Given the description of an element on the screen output the (x, y) to click on. 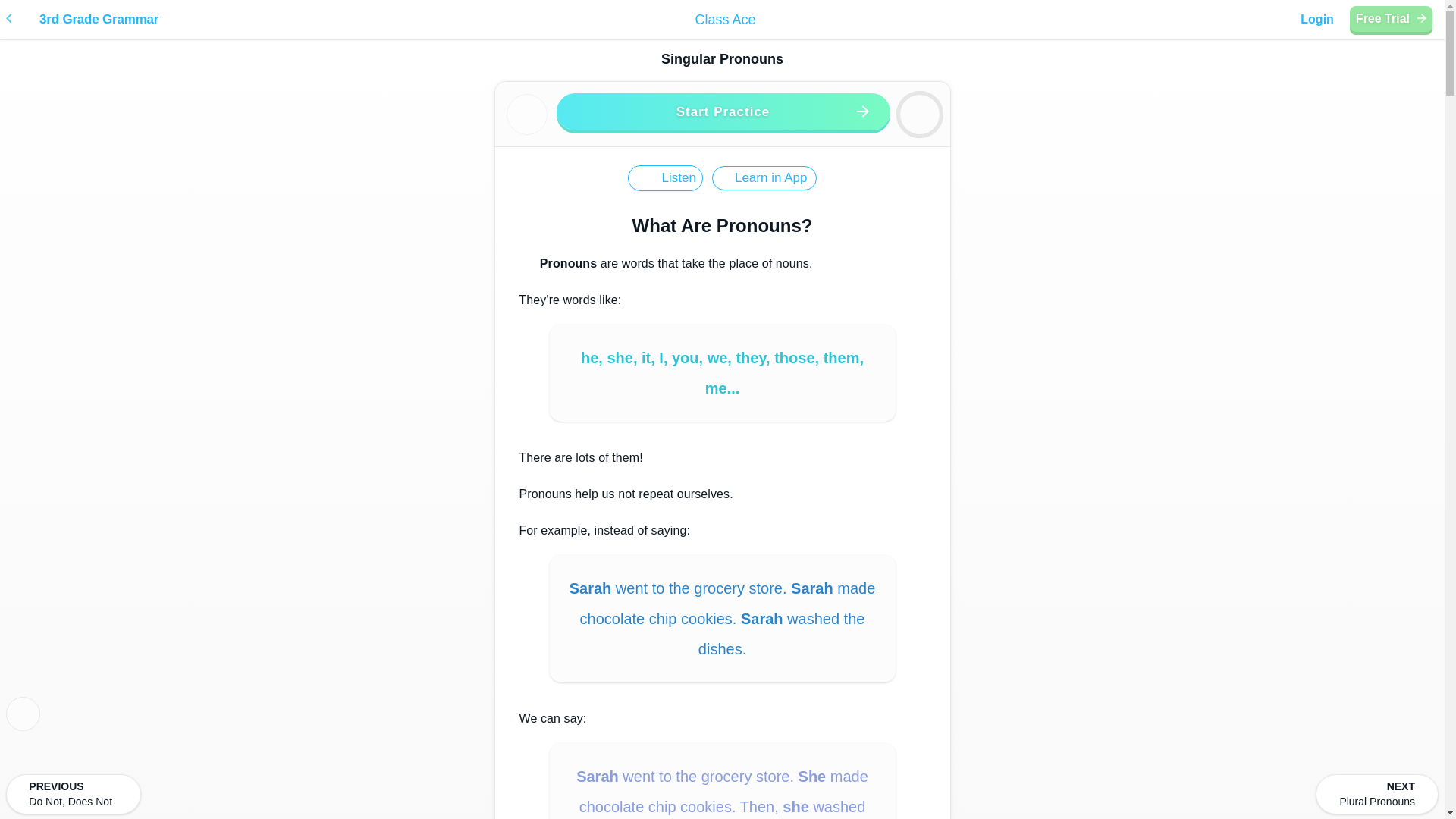
Login (1316, 19)
Free Trial (1390, 18)
3rd Grade Grammar (347, 19)
Class Ace (724, 19)
Learn in App (763, 178)
Listen (665, 177)
